Given the description of an element on the screen output the (x, y) to click on. 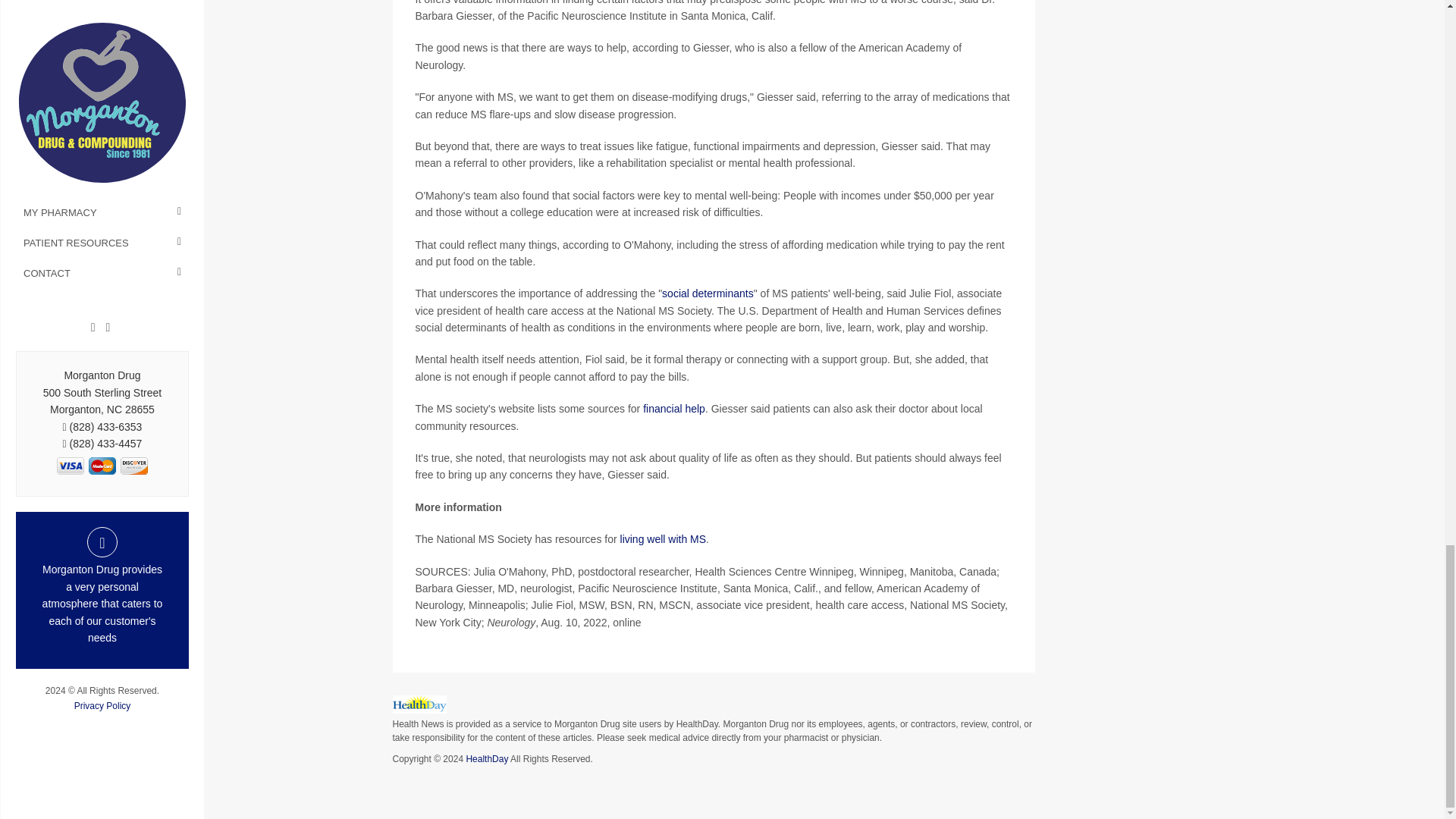
financial help (673, 408)
social determinants (708, 293)
HealthDay (486, 758)
living well with MS (663, 539)
